Given the description of an element on the screen output the (x, y) to click on. 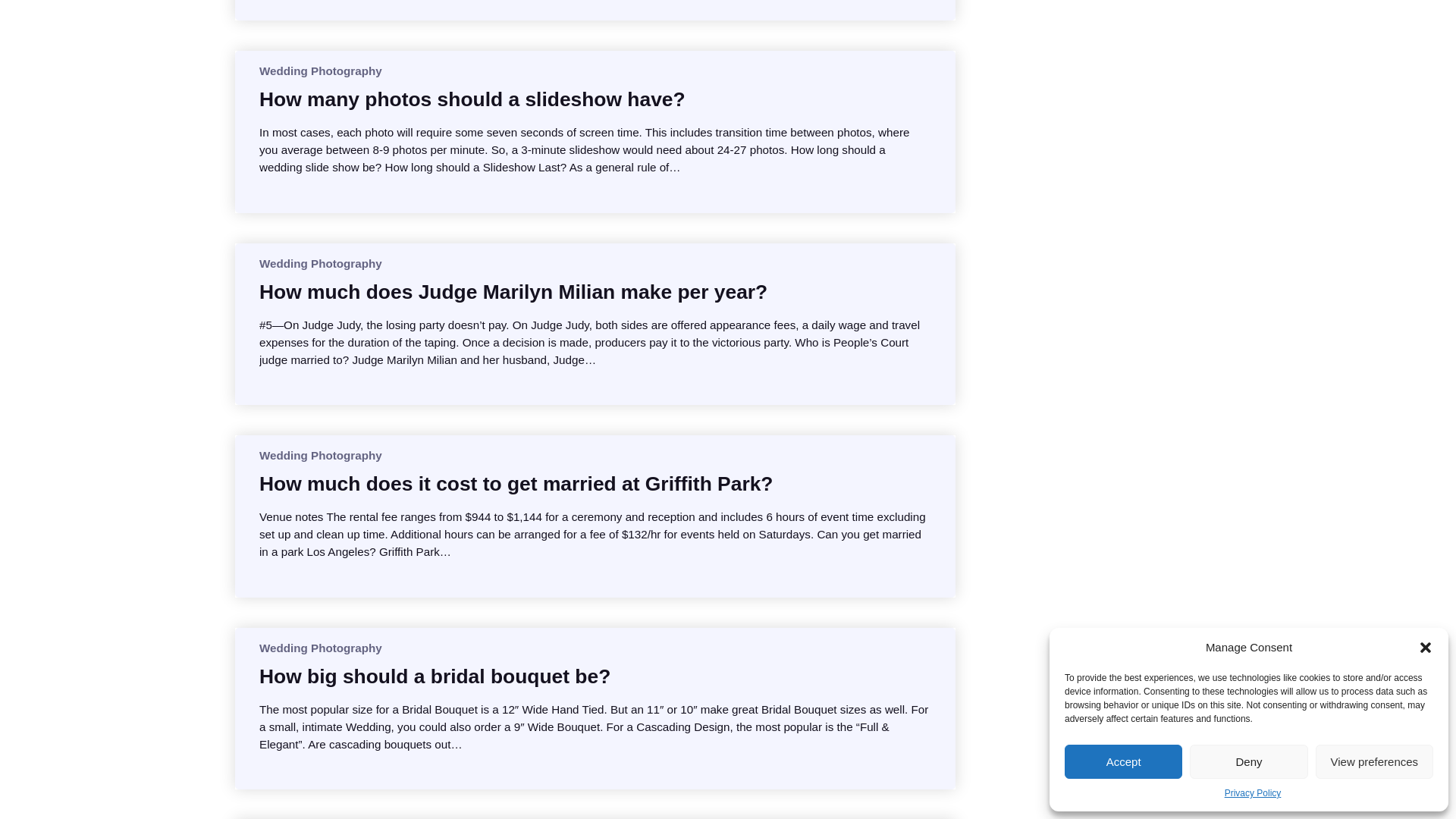
Wedding Photography (320, 263)
How much does Judge Marilyn Milian make per year? (513, 291)
How many photos should a slideshow have? (472, 99)
Wedding Photography (320, 647)
How much does it cost to get married at Griffith Park? (516, 483)
Wedding Photography (320, 454)
Wedding Photography (320, 70)
